Given the description of an element on the screen output the (x, y) to click on. 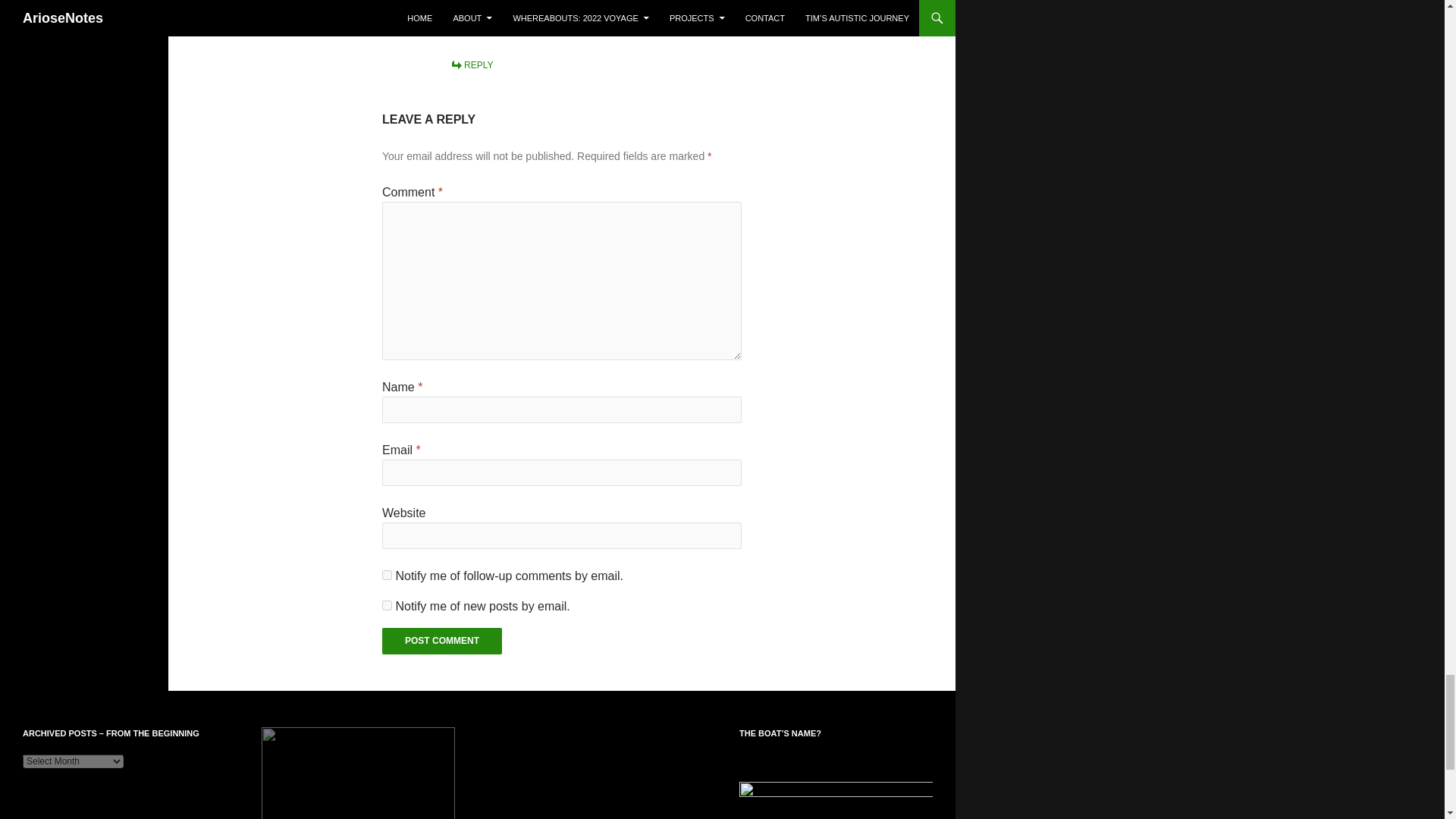
subscribe (386, 574)
subscribe (386, 605)
Post Comment (441, 641)
